Given the description of an element on the screen output the (x, y) to click on. 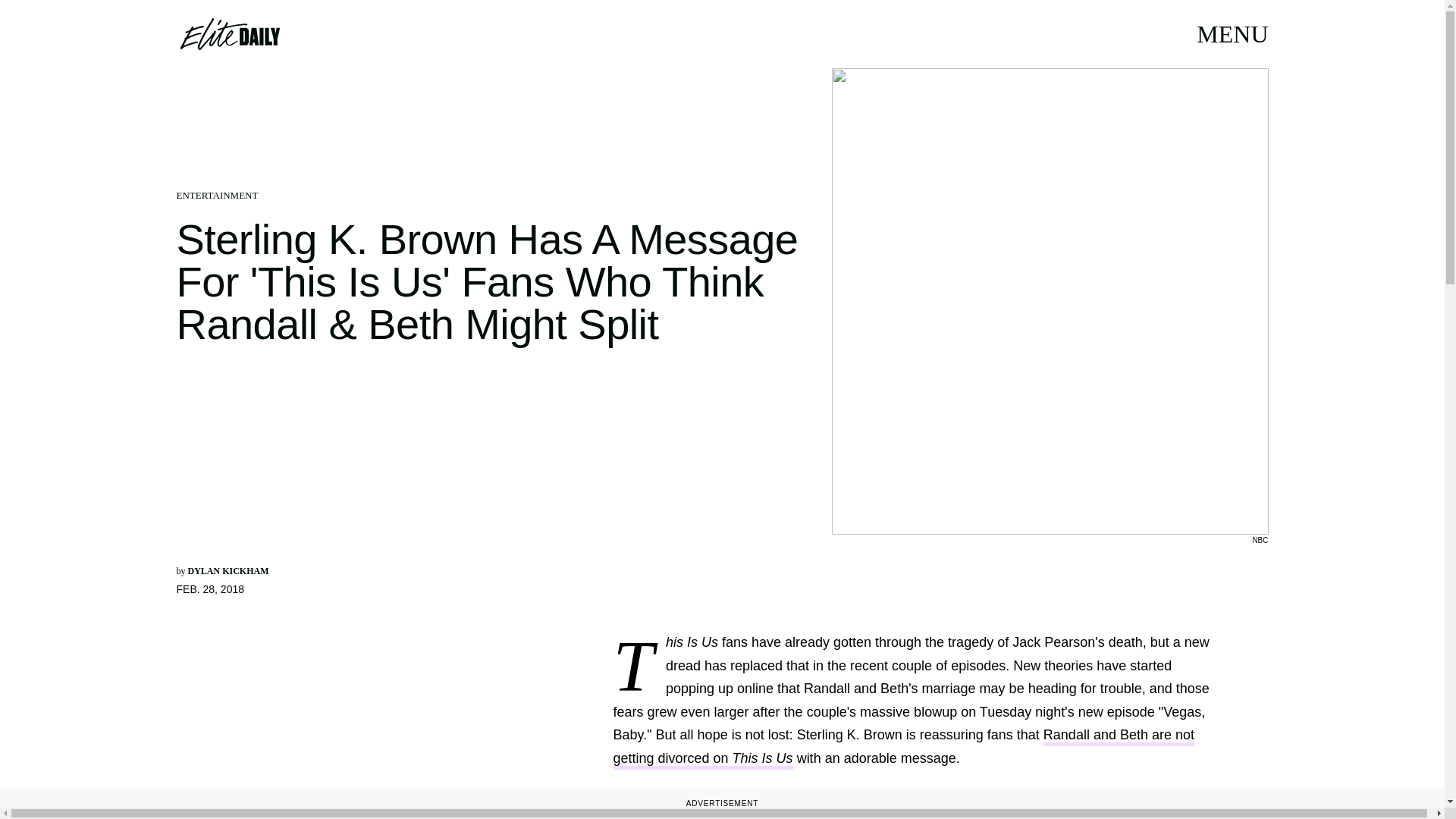
Elite Daily (229, 33)
DYLAN KICKHAM (228, 570)
Randall and Beth are not getting divorced on This Is Us (902, 748)
